Given the description of an element on the screen output the (x, y) to click on. 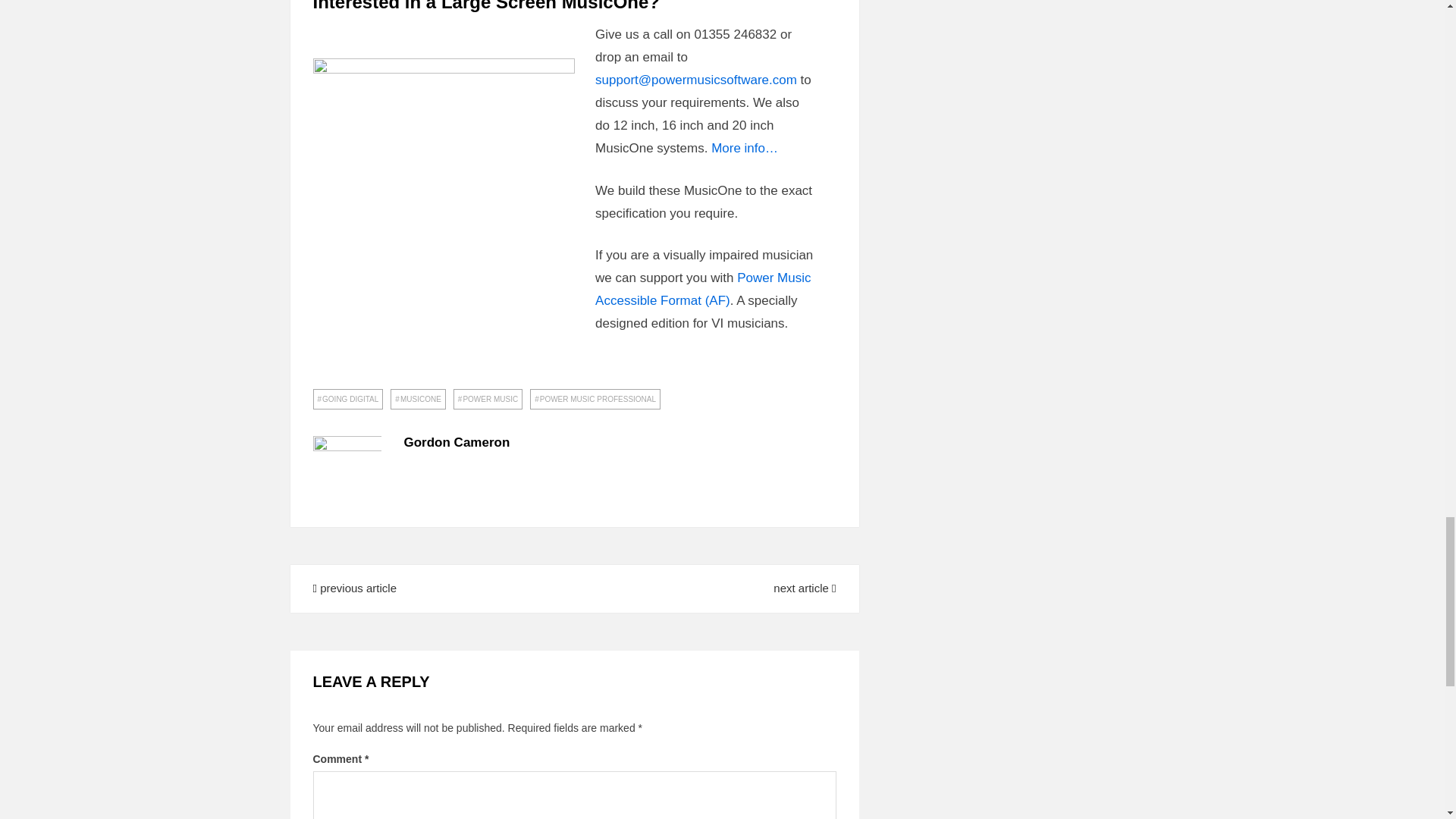
next article (804, 587)
Posts by Gordon Cameron (456, 441)
POWER MUSIC PROFESSIONAL (595, 399)
POWER MUSIC (487, 399)
MUSICONE (417, 399)
previous article (354, 587)
Gordon Cameron (456, 441)
GOING DIGITAL (347, 399)
